Given the description of an element on the screen output the (x, y) to click on. 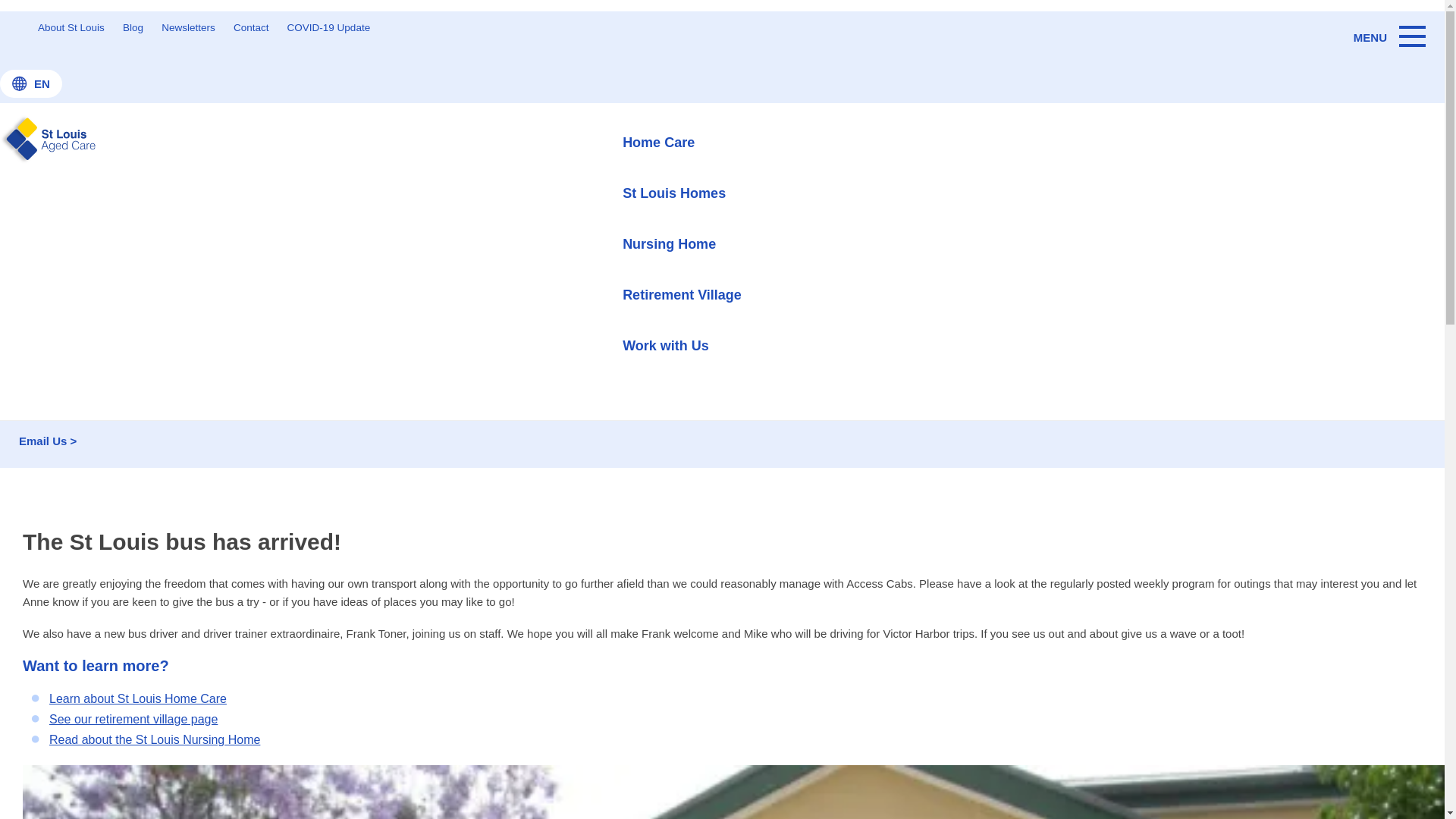
The St Louis bus has arrived! (75, 165)
St Louis Aged Care (53, 142)
Nursing Home (682, 244)
Enquire now (60, 223)
Blog (133, 28)
St Louis Homes (682, 193)
EN (31, 83)
Blog (8, 143)
Contact (250, 28)
Home (12, 121)
About St Louis (71, 28)
Newsletters (188, 28)
COVID-19 Update (328, 28)
Retirement Village (682, 294)
Work with Us (682, 345)
